Given the description of an element on the screen output the (x, y) to click on. 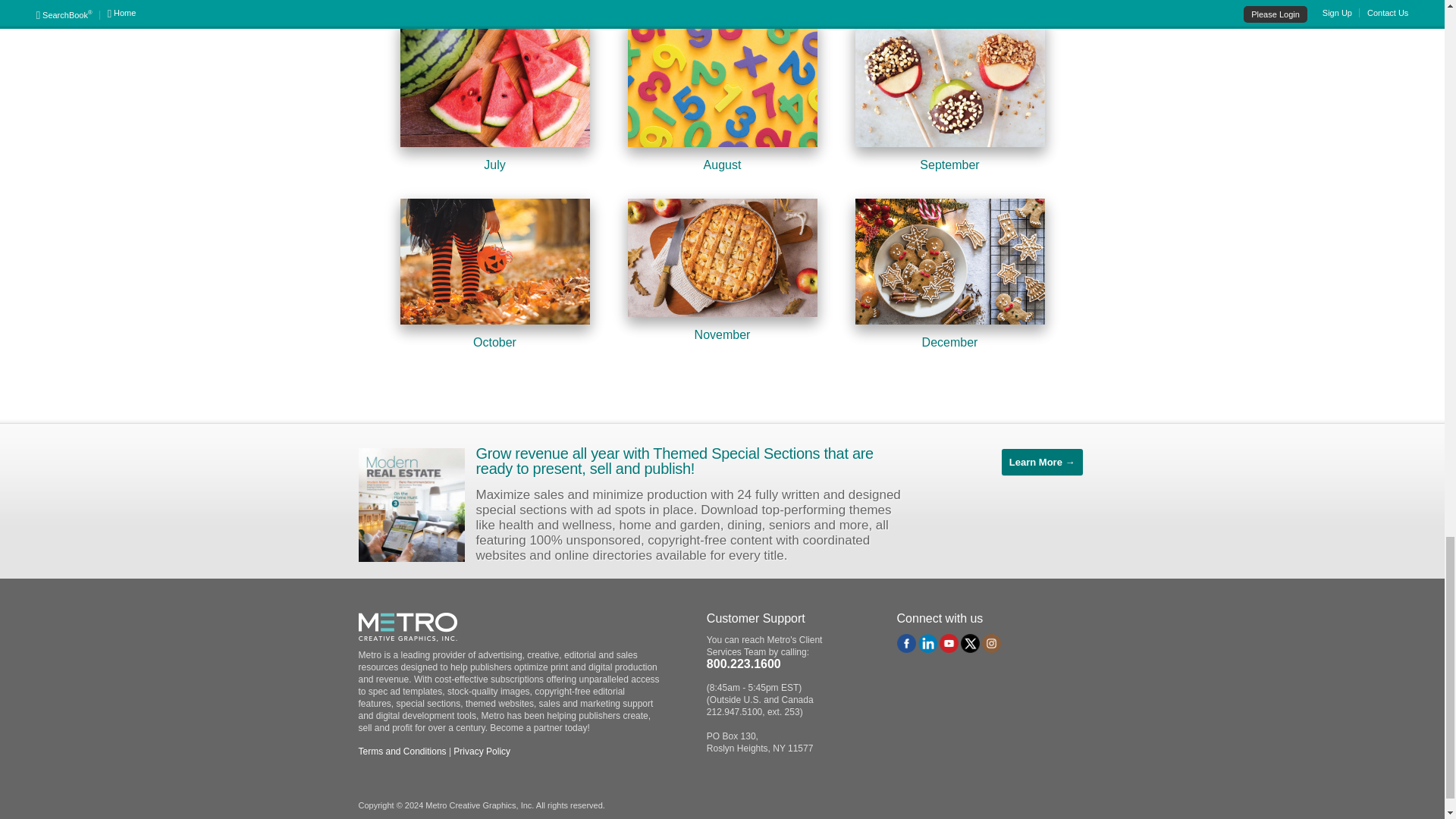
Facebook (905, 642)
X (969, 642)
YouTube (948, 642)
Instagram (991, 642)
LinkedIn (927, 642)
